Given the description of an element on the screen output the (x, y) to click on. 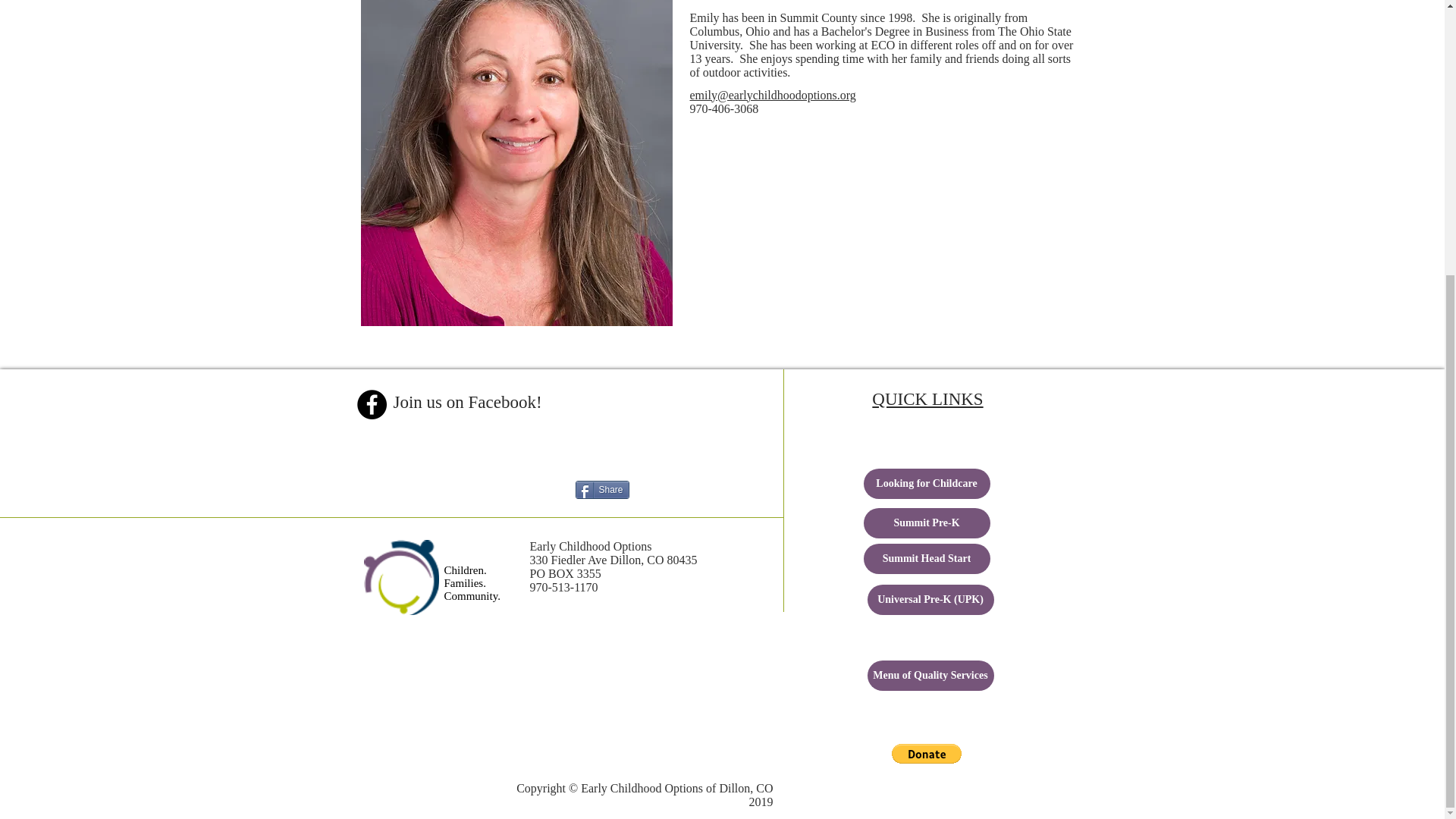
Looking for Childcare (926, 483)
Share (601, 489)
Facebook Like (669, 412)
Share (601, 489)
Summit Pre-K (926, 522)
